Given the description of an element on the screen output the (x, y) to click on. 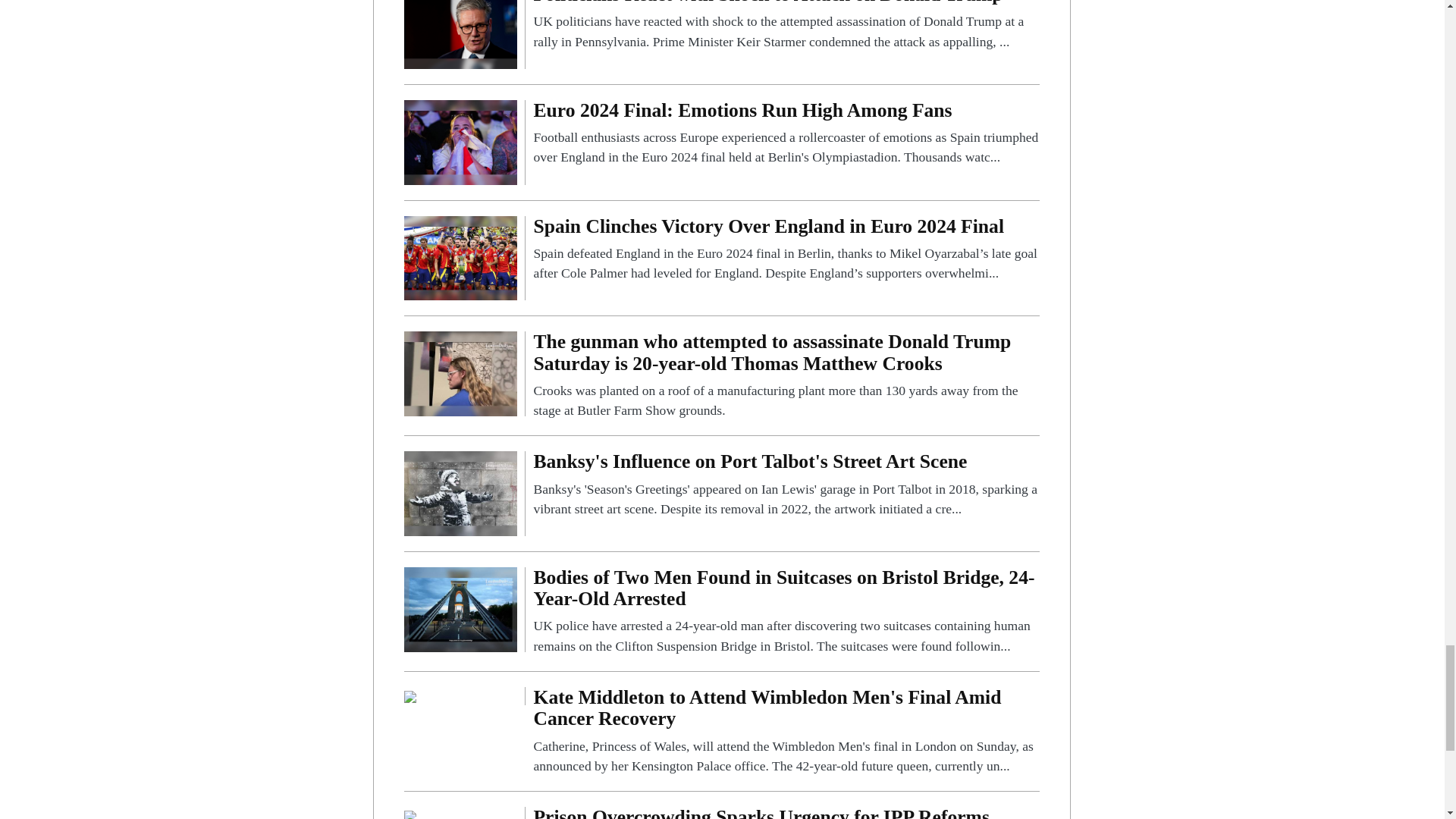
Banksy's Influence on Port Talbot's Street Art Scene (460, 492)
Spain Clinches Victory Over England in Euro 2024 Final (785, 249)
Banksy's Influence on Port Talbot's Street Art Scene (785, 484)
Politicians React with Shock to Attack on Donald Trump (785, 25)
Euro 2024 Final: Emotions Run High Among Fans (785, 133)
Euro 2024 Final: Emotions Run High Among Fans (460, 141)
Politicians React with Shock to Attack on Donald Trump (460, 24)
